Given the description of an element on the screen output the (x, y) to click on. 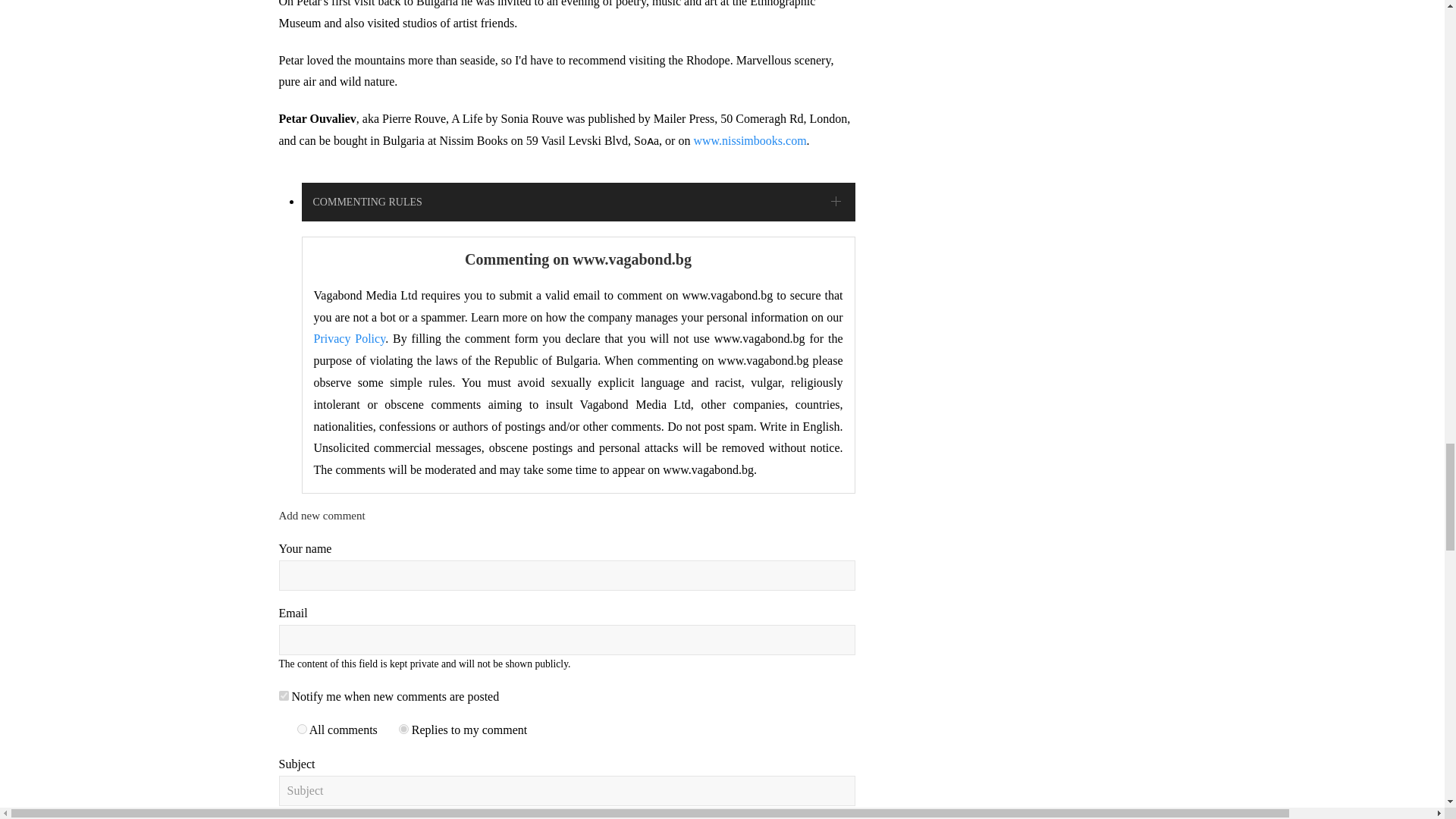
1 (302, 728)
1 (283, 696)
2 (403, 728)
